Given the description of an element on the screen output the (x, y) to click on. 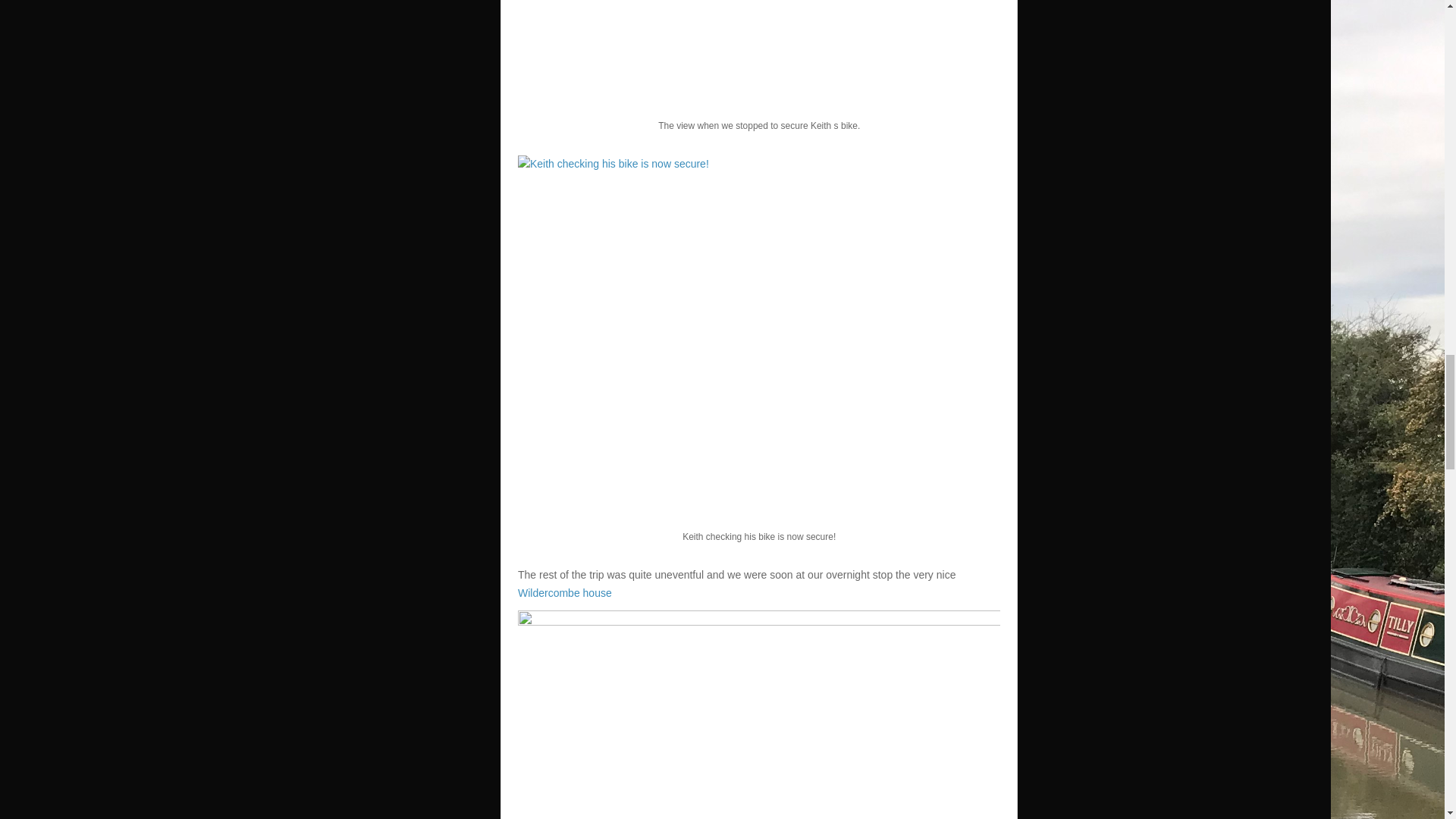
Wildercombe house (564, 592)
